Given the description of an element on the screen output the (x, y) to click on. 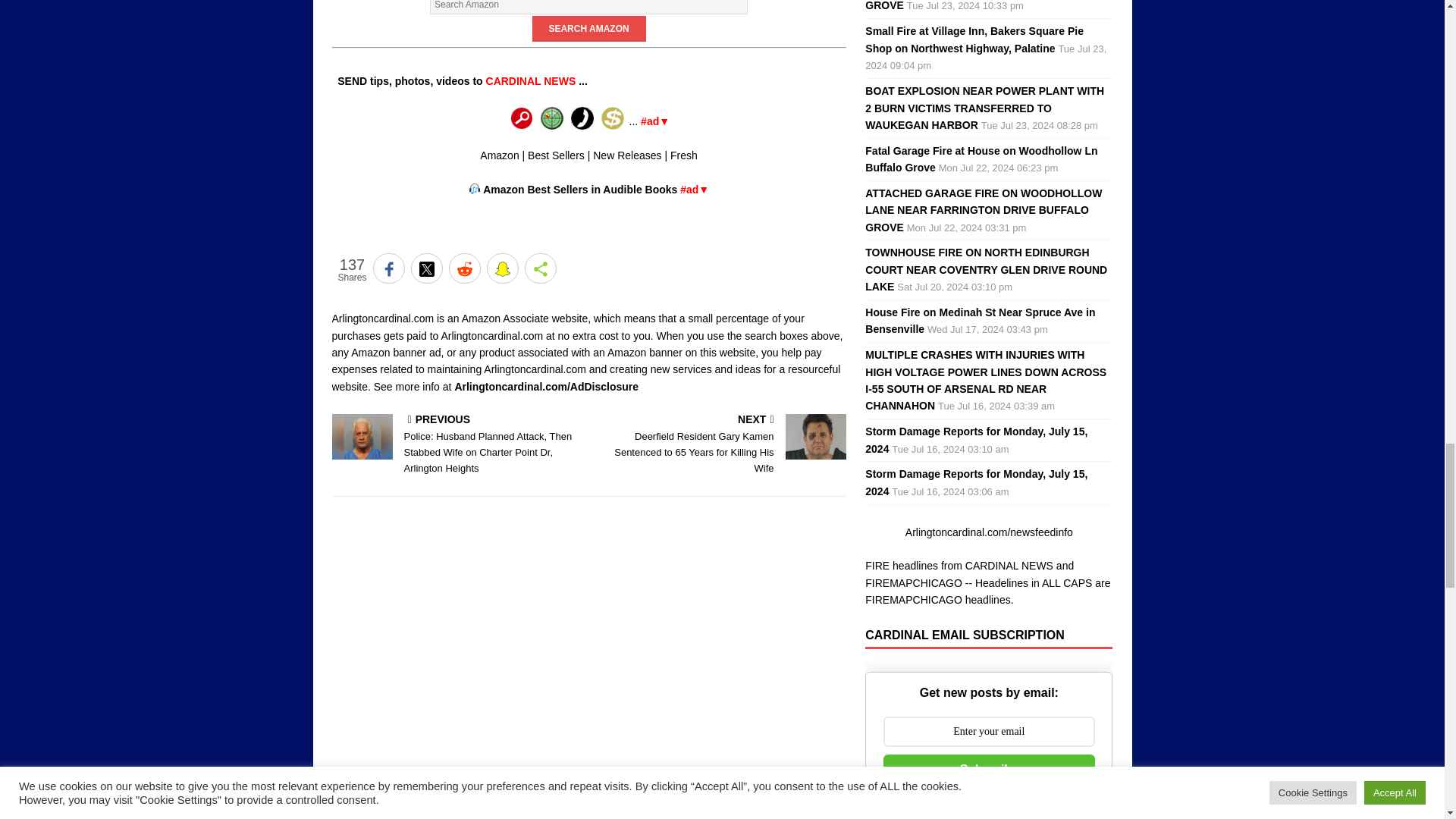
Search Amazon (589, 28)
